Given the description of an element on the screen output the (x, y) to click on. 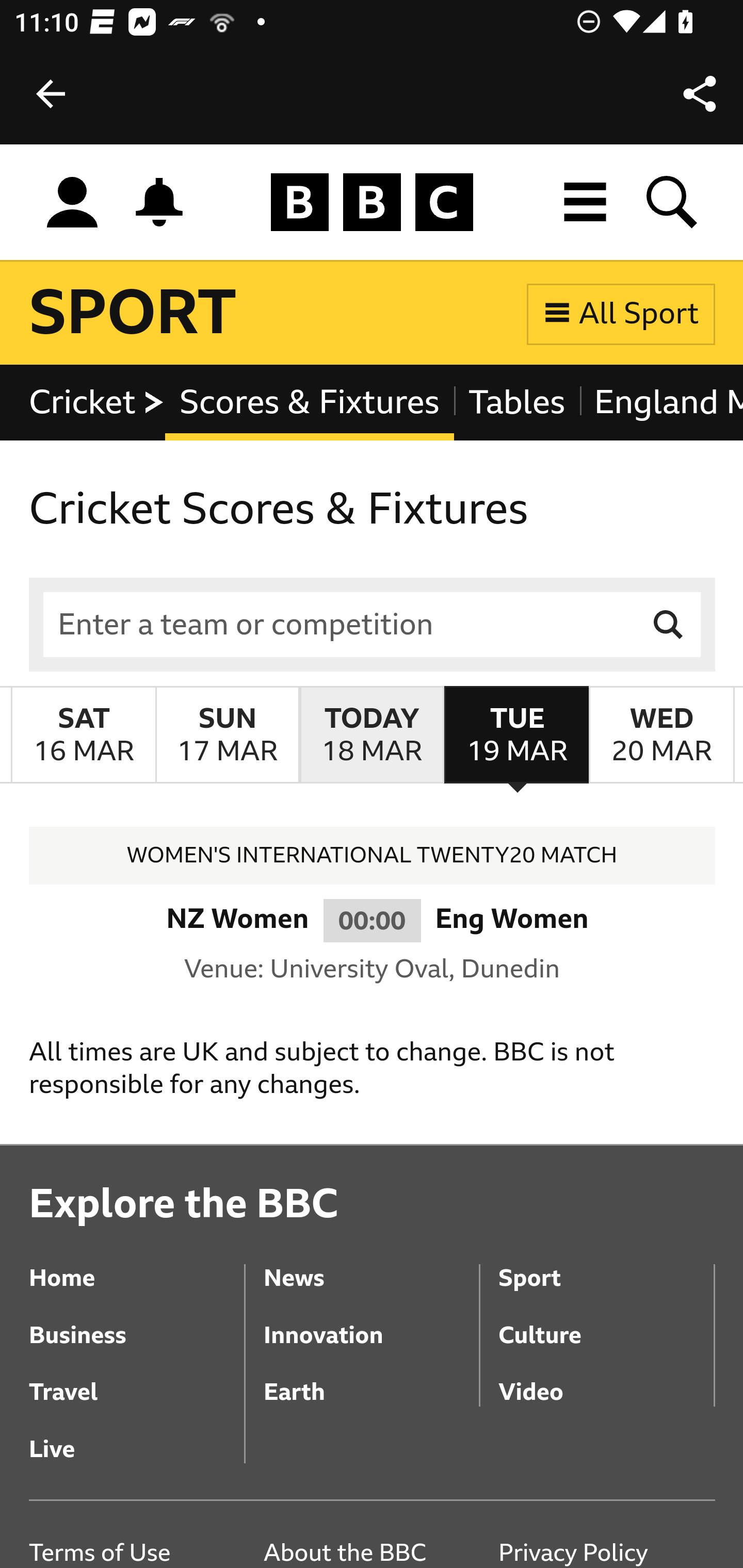
Back (50, 93)
Share (699, 93)
Notifications (159, 202)
All BBC destinations menu (585, 202)
Search BBC (672, 202)
Sign in (71, 203)
Homepage (371, 203)
BBC SPORT BBC SPORT (133, 313)
 All Sport (620, 314)
Cricket  (97, 402)
Scores & Fixtures (309, 402)
Tables (517, 402)
England Men (660, 402)
Search (669, 624)
SaturdayMarch 16th Saturday March 16th (83, 735)
SundayMarch 17th Sunday March 17th (227, 735)
TodayMarch 18th Today March 18th (371, 735)
WednesdayMarch 20th Wednesday March 20th (661, 735)
Home (136, 1263)
News (370, 1263)
Sport (606, 1263)
Business (136, 1320)
Innovation (370, 1320)
Culture (606, 1320)
Travel (136, 1378)
Earth (370, 1378)
Video (606, 1378)
Live (136, 1434)
Terms of Use (136, 1553)
About the BBC (370, 1553)
Privacy Policy (606, 1553)
